Given the description of an element on the screen output the (x, y) to click on. 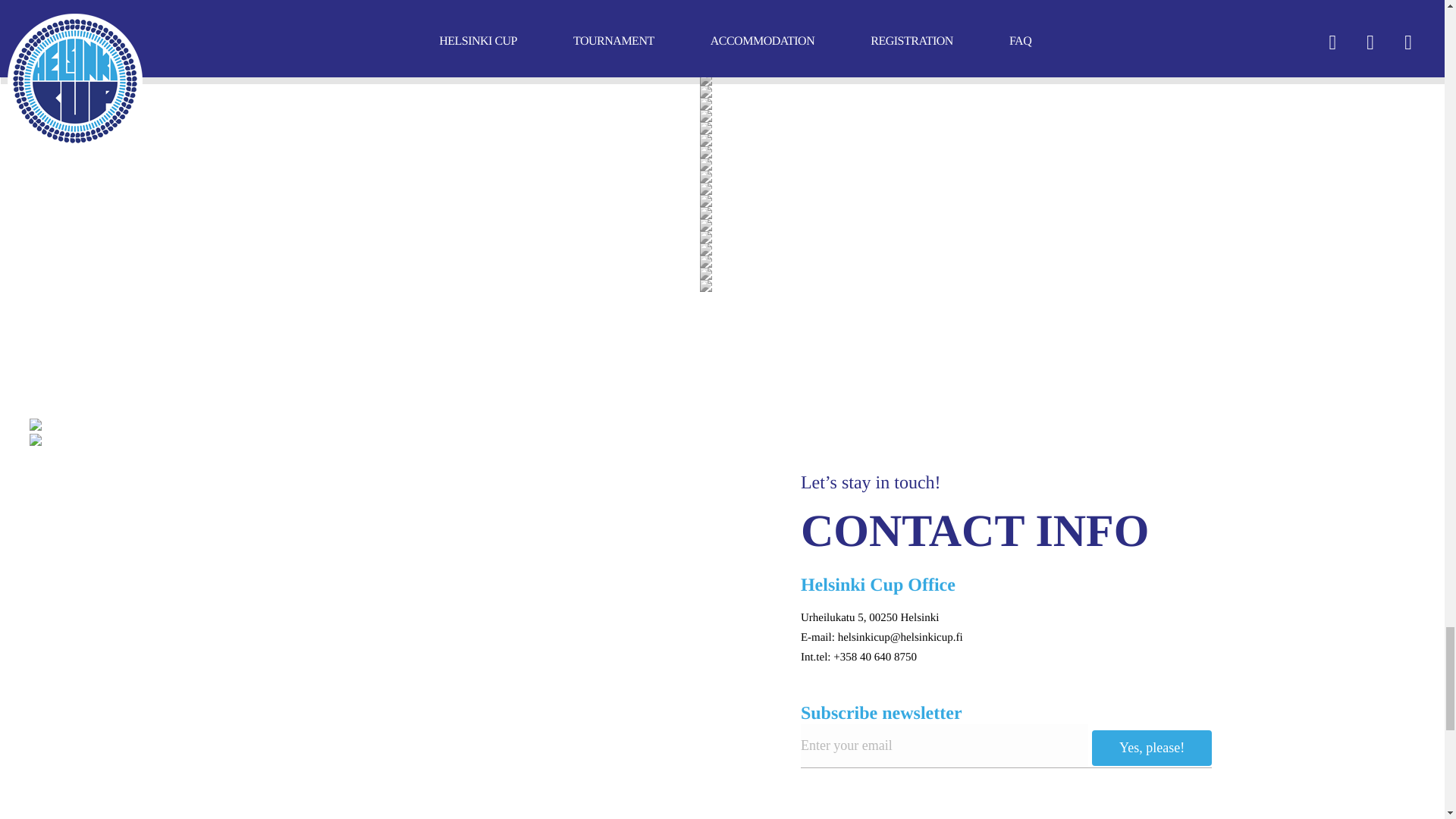
Yes, please! (1151, 747)
